Given the description of an element on the screen output the (x, y) to click on. 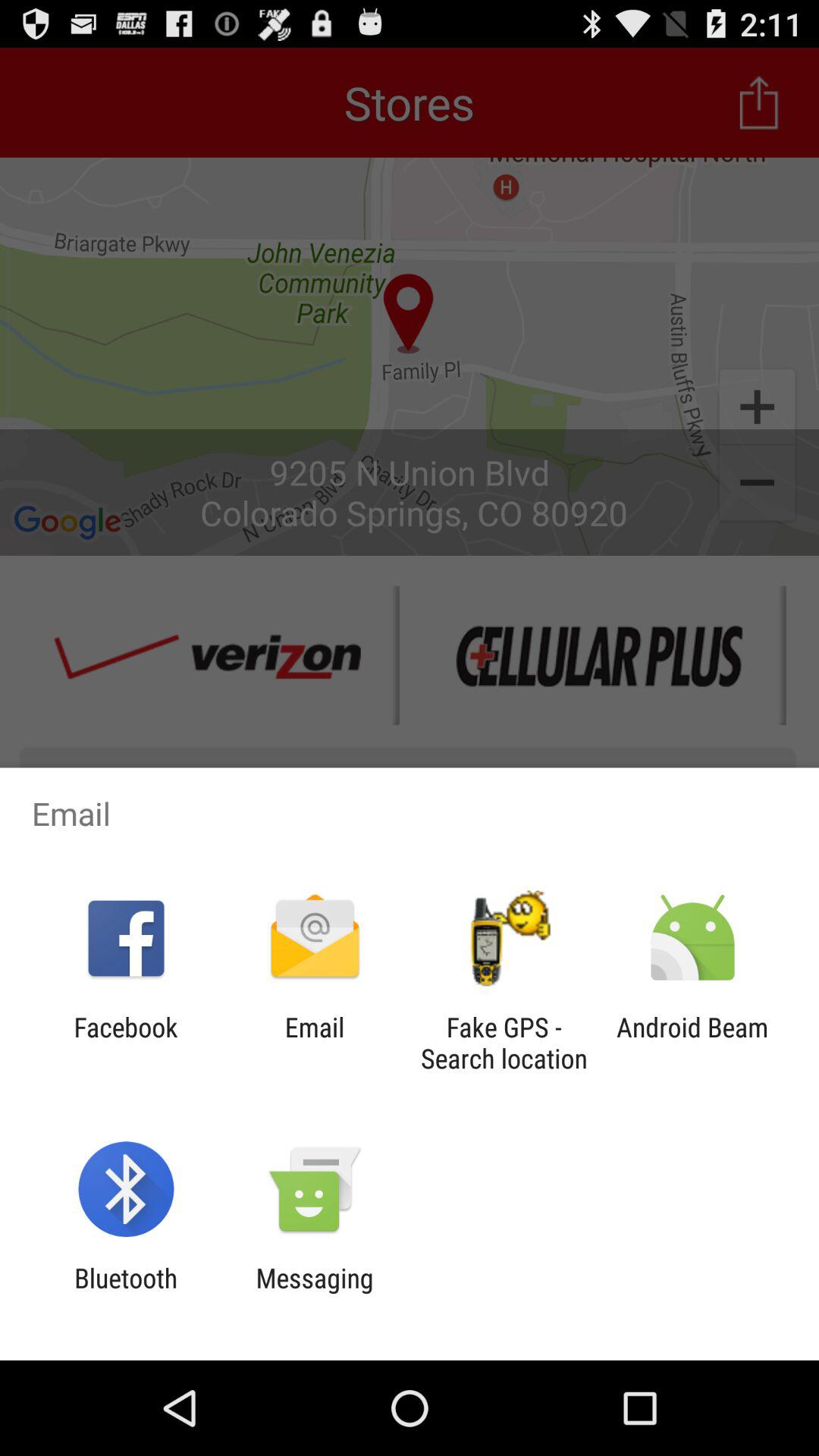
launch the app next to fake gps search item (692, 1042)
